Given the description of an element on the screen output the (x, y) to click on. 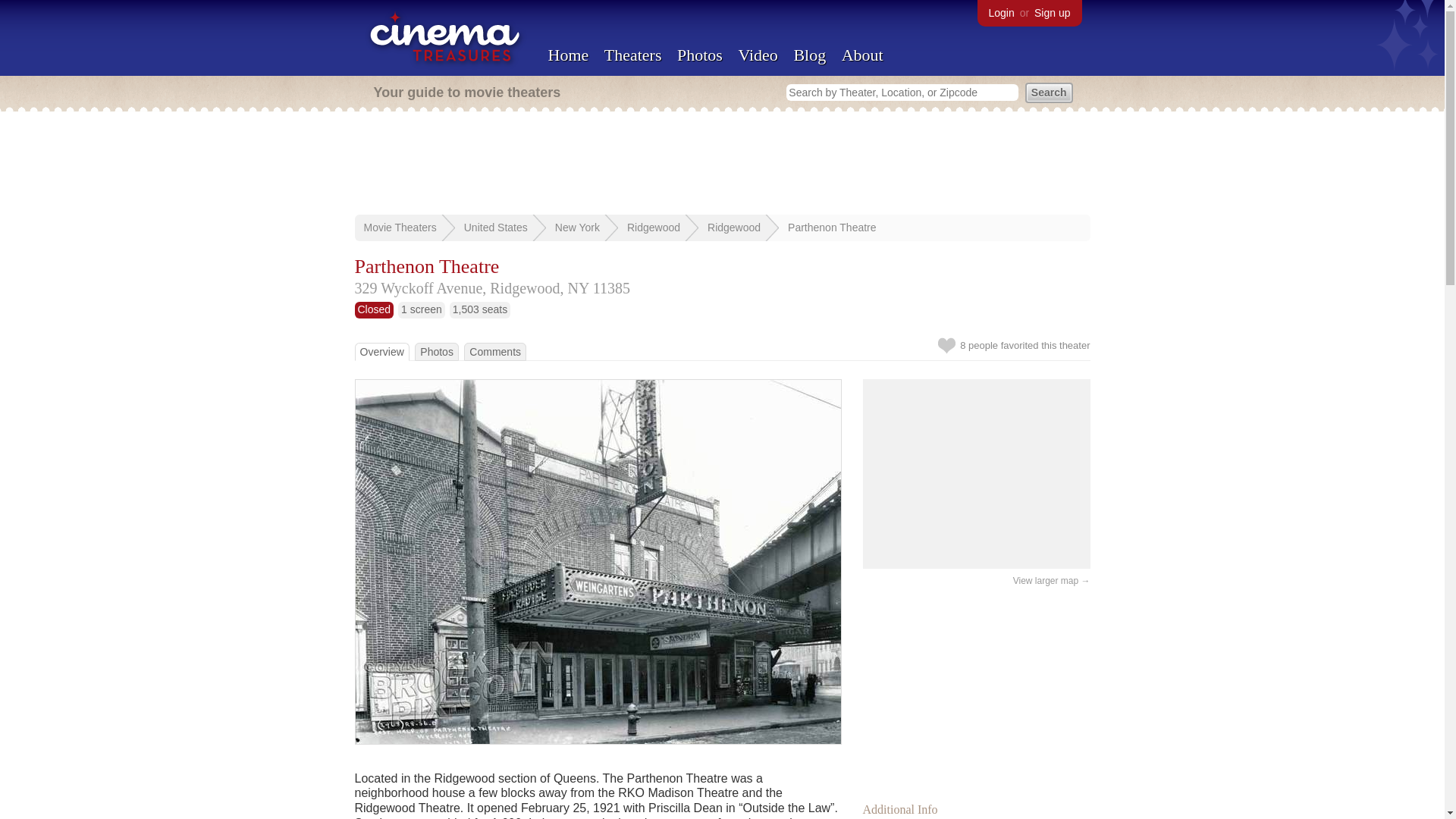
Sign up (1051, 12)
Ridgewood (733, 227)
Closed (374, 309)
Parthenon Theatre (831, 227)
Login to favorite this theater (946, 345)
Video (757, 54)
Photos (699, 54)
Search (1049, 92)
Search (1049, 92)
Login (1001, 12)
Advertisement (976, 690)
Advertisement (722, 164)
United States (495, 227)
Theaters (633, 54)
Comments (494, 351)
